Given the description of an element on the screen output the (x, y) to click on. 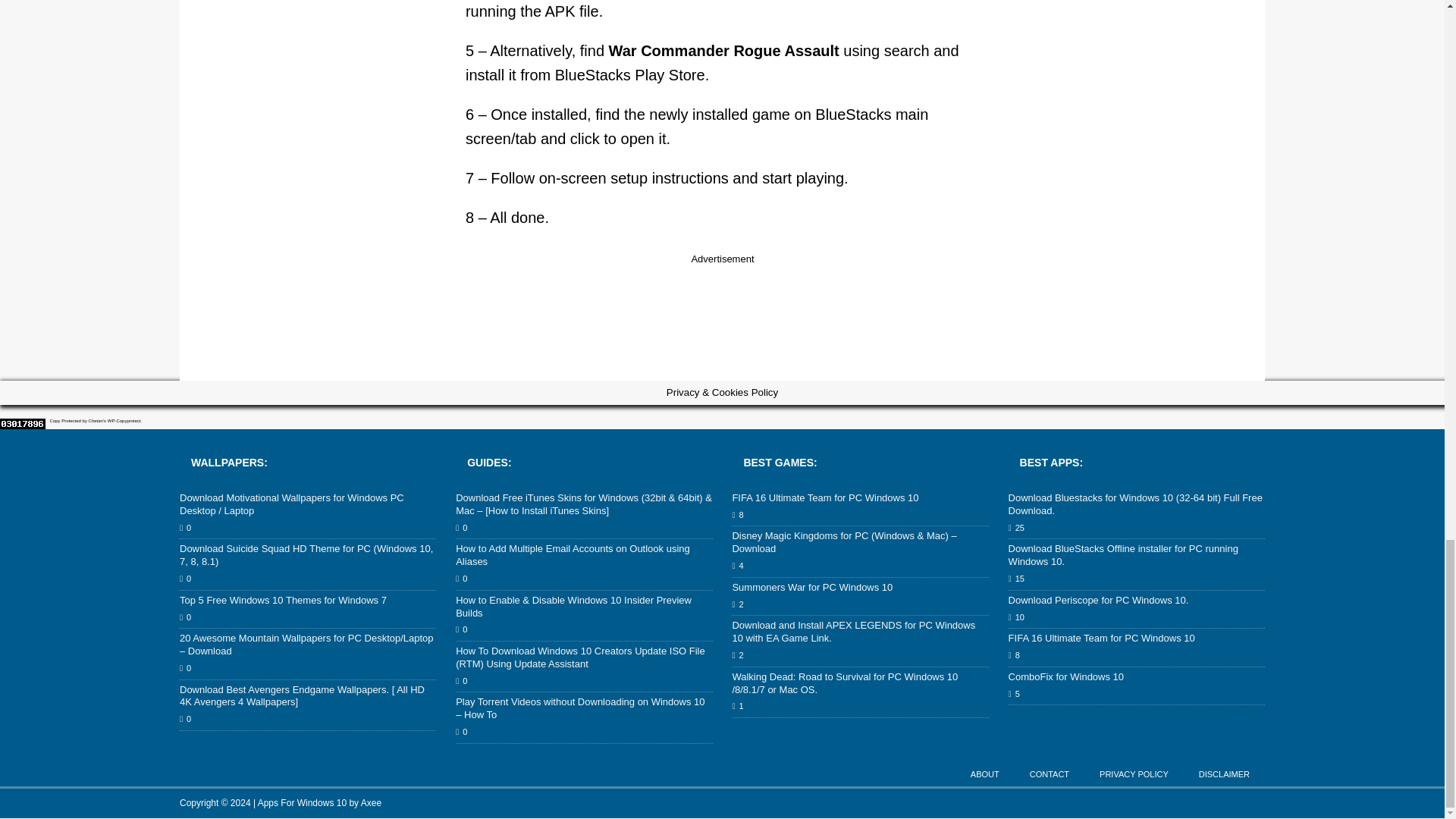
Summoners War for PC Windows 10 (812, 586)
Chetan (95, 420)
How to Add Multiple Email Accounts on Outlook using Aliases (572, 554)
Top 5 Free Windows 10 Themes for Windows 7 (283, 600)
FIFA 16 Ultimate Team for PC Windows 10 (825, 497)
